Given the description of an element on the screen output the (x, y) to click on. 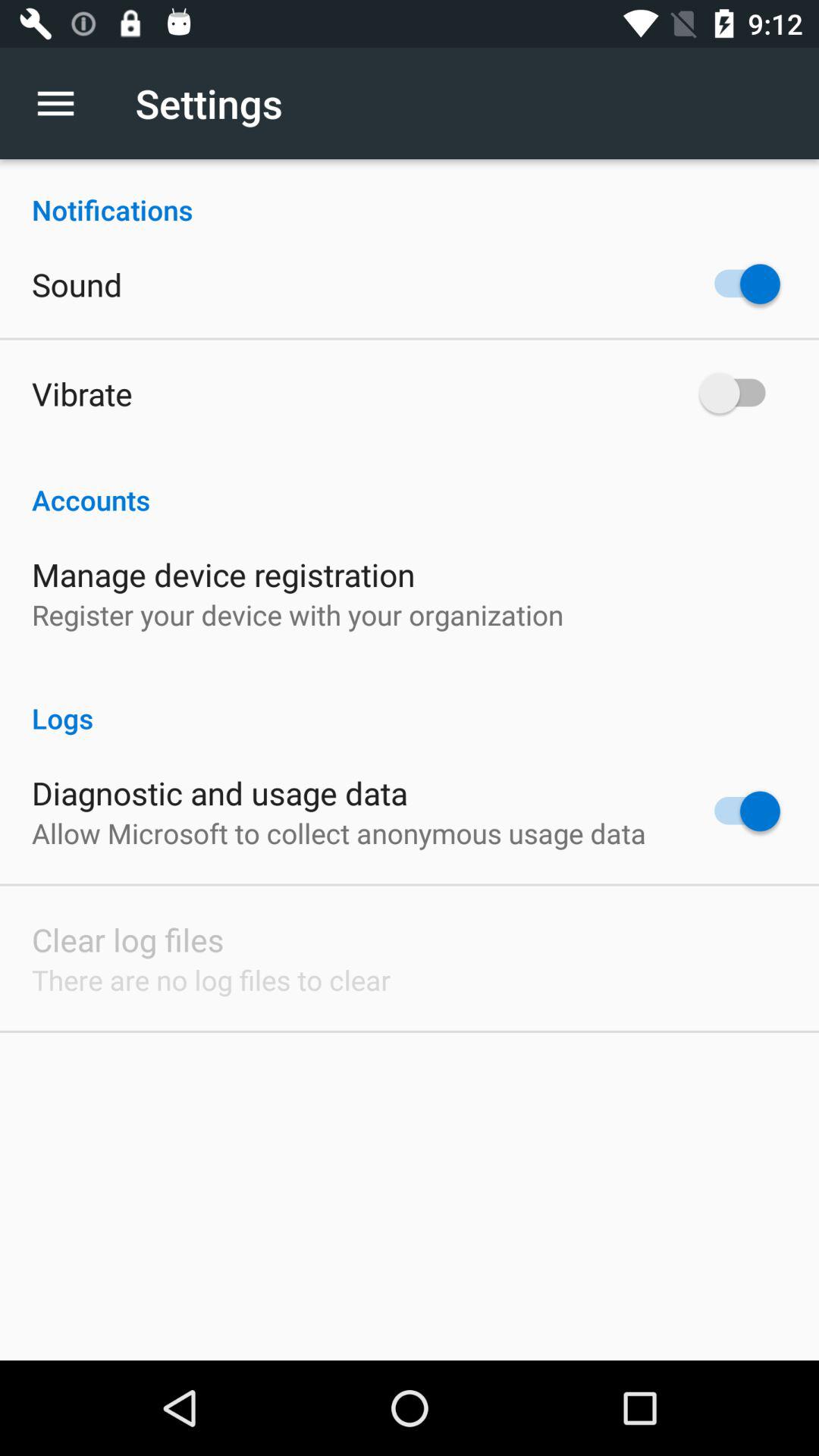
choose the icon above accounts (81, 393)
